Given the description of an element on the screen output the (x, y) to click on. 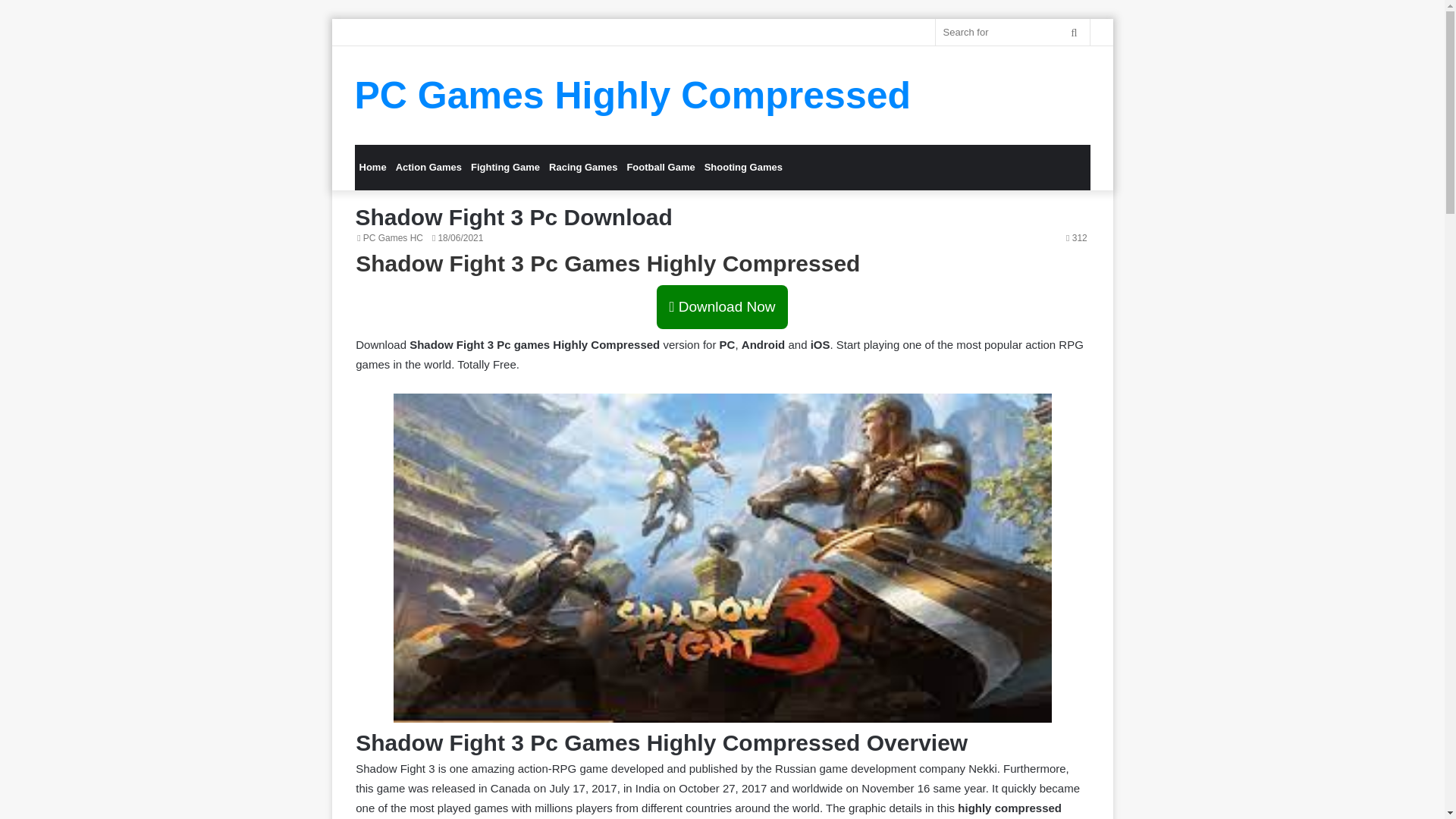
Football Game (659, 167)
Download Now (721, 307)
Action Games (428, 167)
Shadow Fight 3 Pc Games Highly Compressed (607, 263)
PC Games Highly Compressed (633, 95)
Download Now (721, 307)
Search for (1073, 31)
Racing Games (582, 167)
Fighting Game (504, 167)
